Given the description of an element on the screen output the (x, y) to click on. 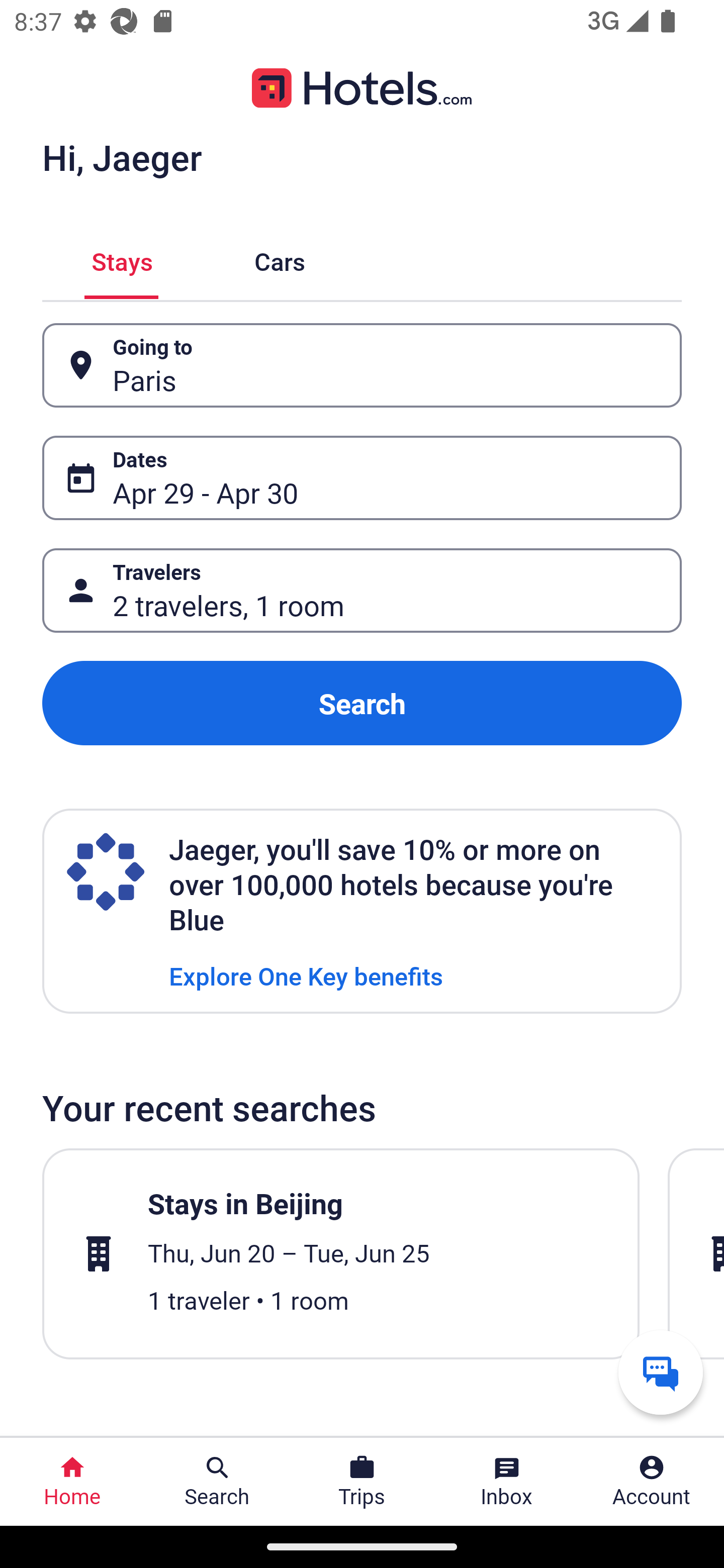
Hi, Jaeger (121, 156)
Cars (279, 259)
Going to Button Paris (361, 365)
Dates Button Apr 29 - Apr 30 (361, 477)
Travelers Button 2 travelers, 1 room (361, 590)
Search (361, 702)
Get help from a virtual agent (660, 1371)
Search Search Button (216, 1481)
Trips Trips Button (361, 1481)
Inbox Inbox Button (506, 1481)
Account Profile. Button (651, 1481)
